Given the description of an element on the screen output the (x, y) to click on. 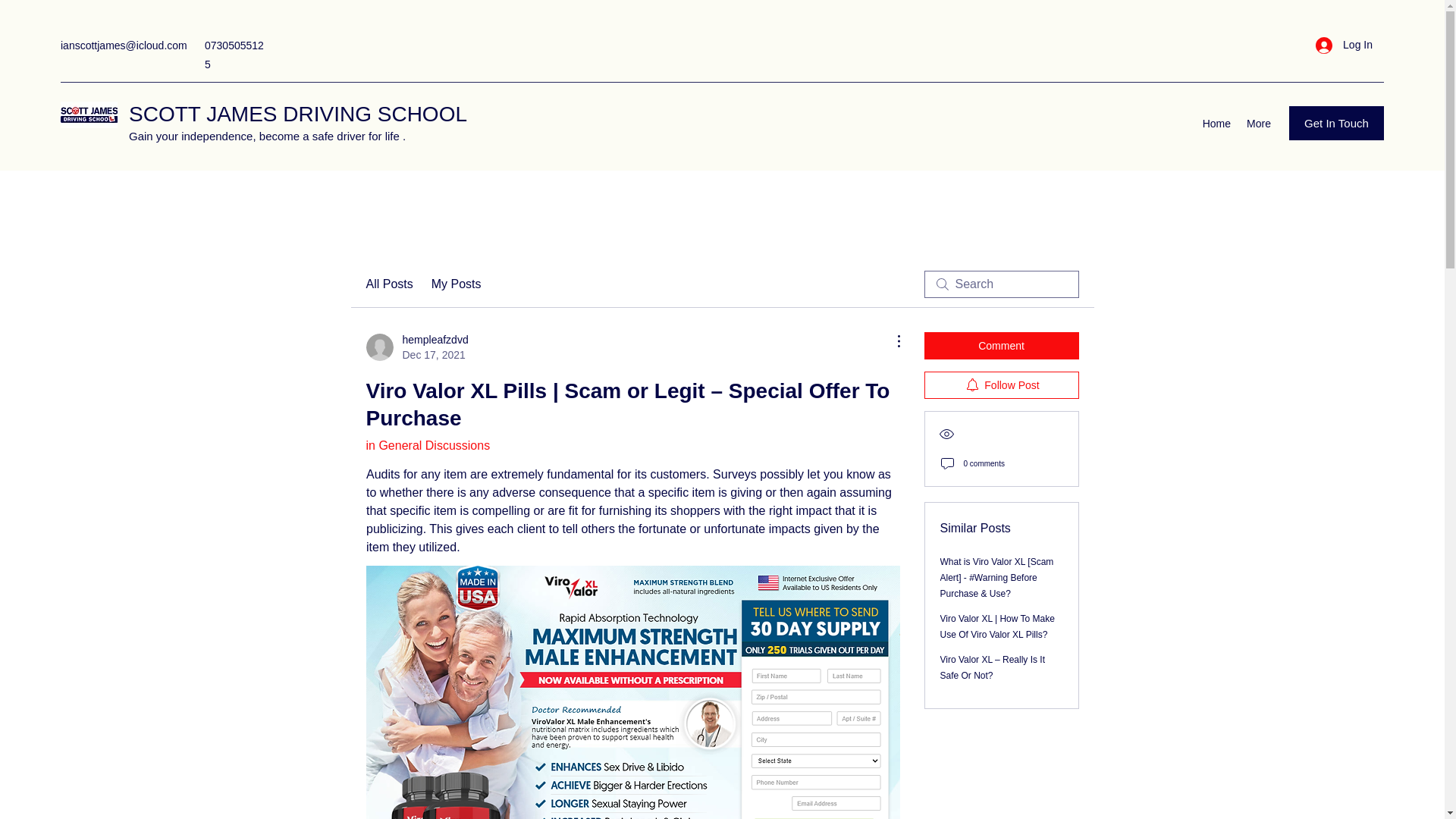
SCOTT JAMES DRIVING SCHOOL (298, 114)
Comment (1000, 345)
My Posts (455, 284)
Follow Post (1000, 384)
Get In Touch (416, 347)
in General Discussions (1336, 123)
Log In (427, 445)
Home (1343, 44)
All Posts (1216, 123)
